Given the description of an element on the screen output the (x, y) to click on. 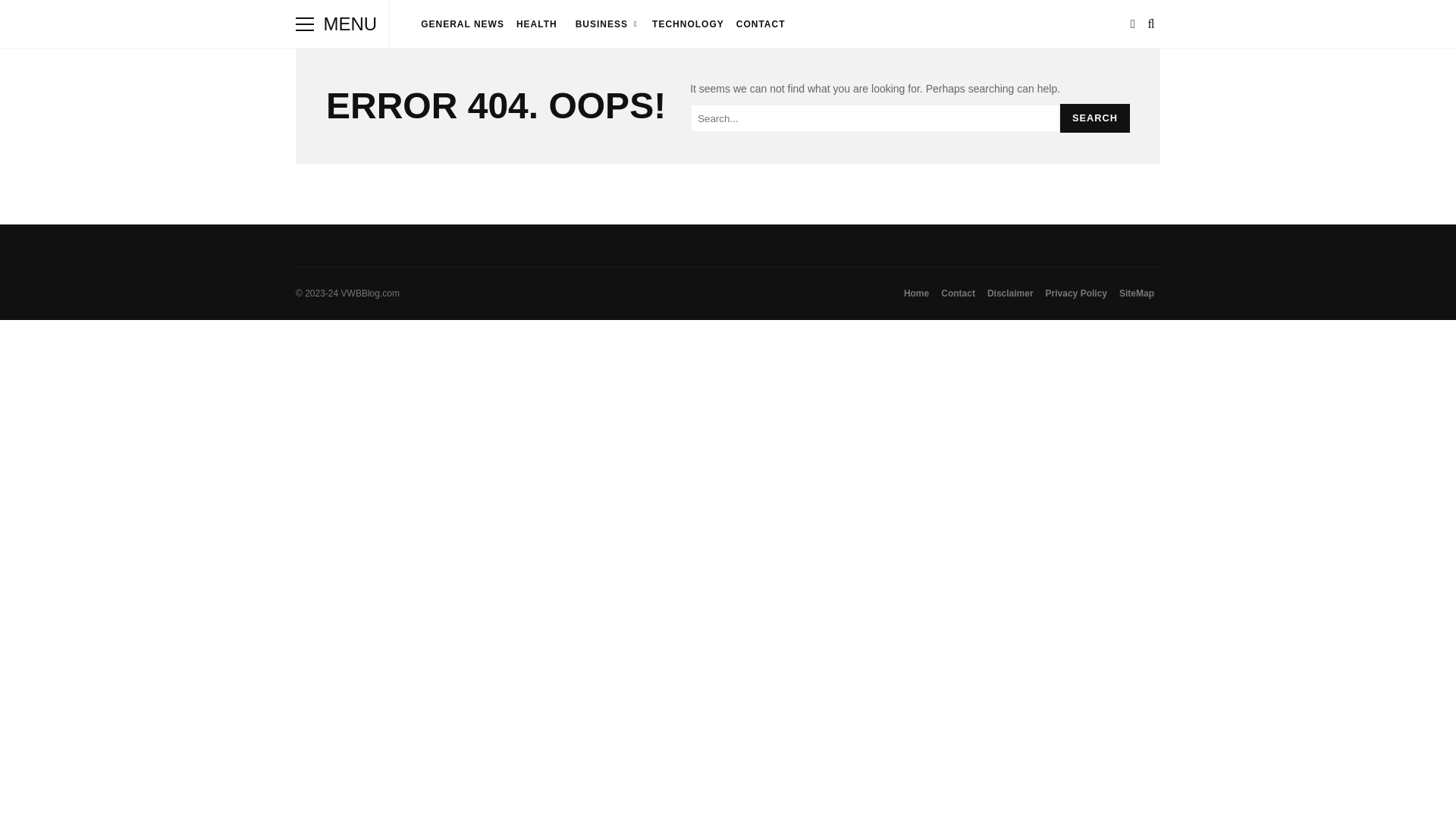
SEARCH (1094, 118)
GENERAL NEWS (462, 24)
BUSINESS (604, 24)
TECHNOLOGY (688, 24)
CONTACT (761, 24)
Contact (957, 293)
HEALTH (537, 24)
Home (916, 293)
